Given the description of an element on the screen output the (x, y) to click on. 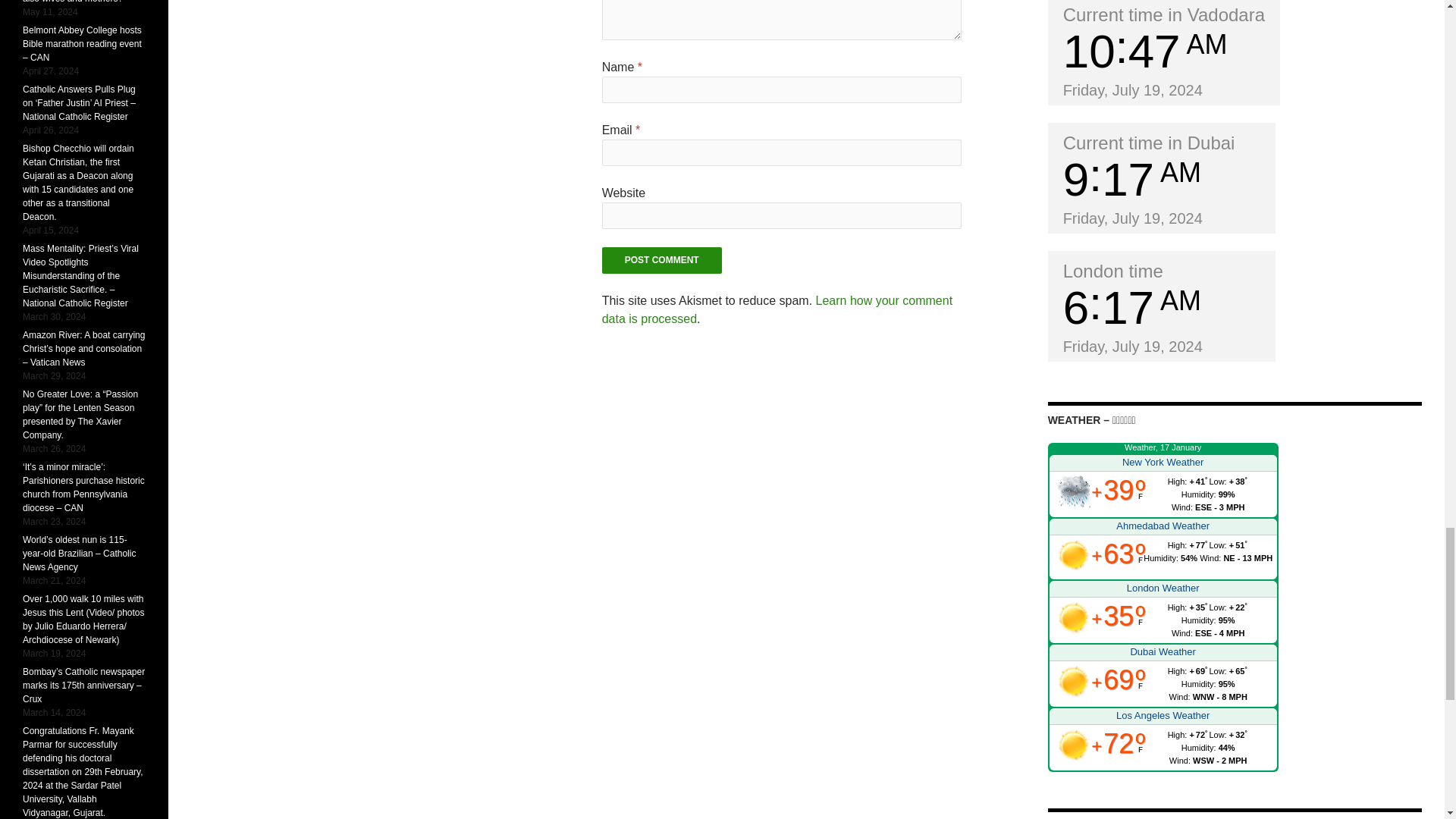
Post Comment (662, 260)
Learn how your comment data is processed (777, 309)
Post Comment (662, 260)
